Given the description of an element on the screen output the (x, y) to click on. 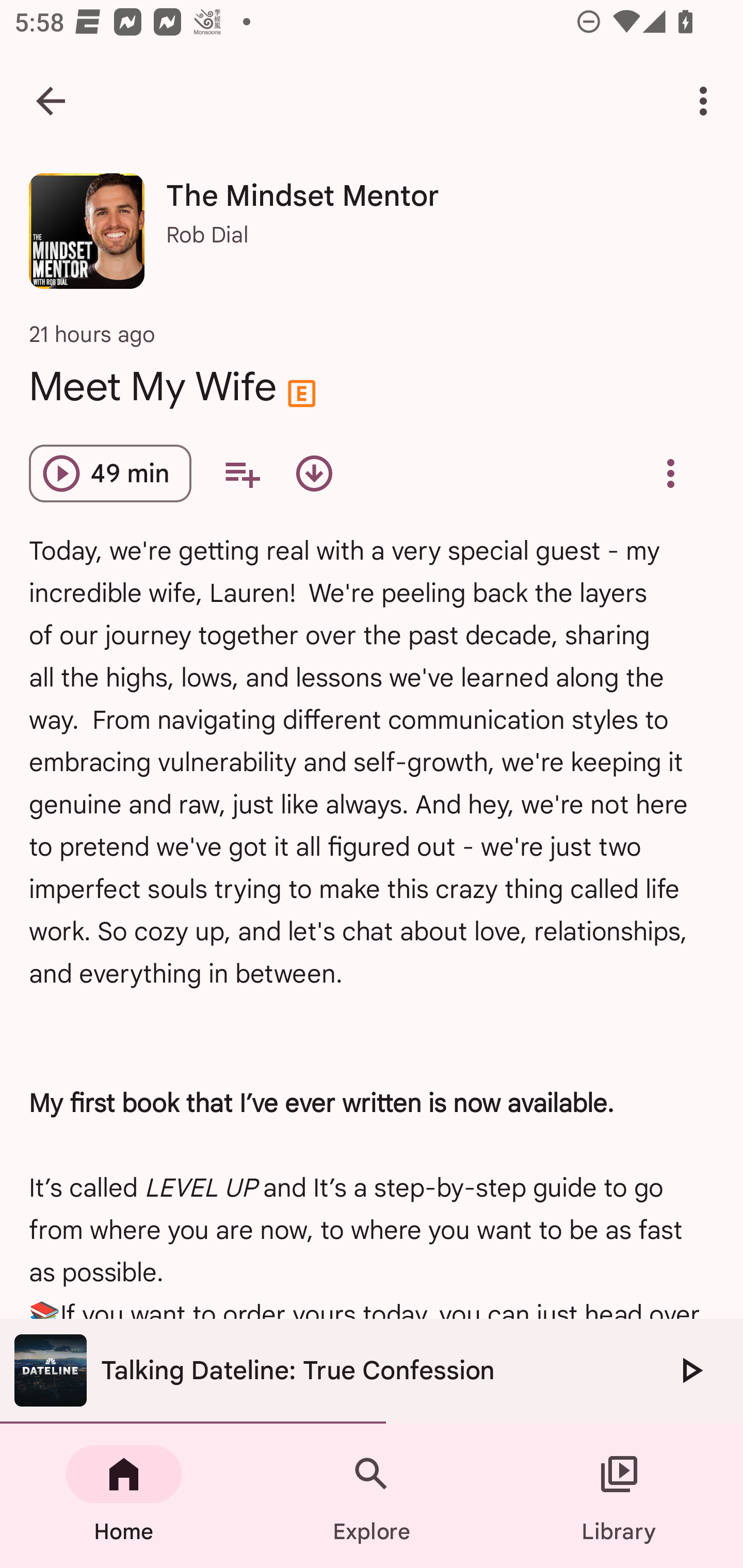
Navigate up (50, 101)
More options (706, 101)
The Mindset Mentor The Mindset Mentor Rob Dial (371, 238)
Play episode Meet My Wife 49 min (109, 473)
Add to your queue (241, 473)
Download episode (313, 473)
Overflow menu (670, 473)
Play (690, 1370)
Explore (371, 1495)
Library (619, 1495)
